Given the description of an element on the screen output the (x, y) to click on. 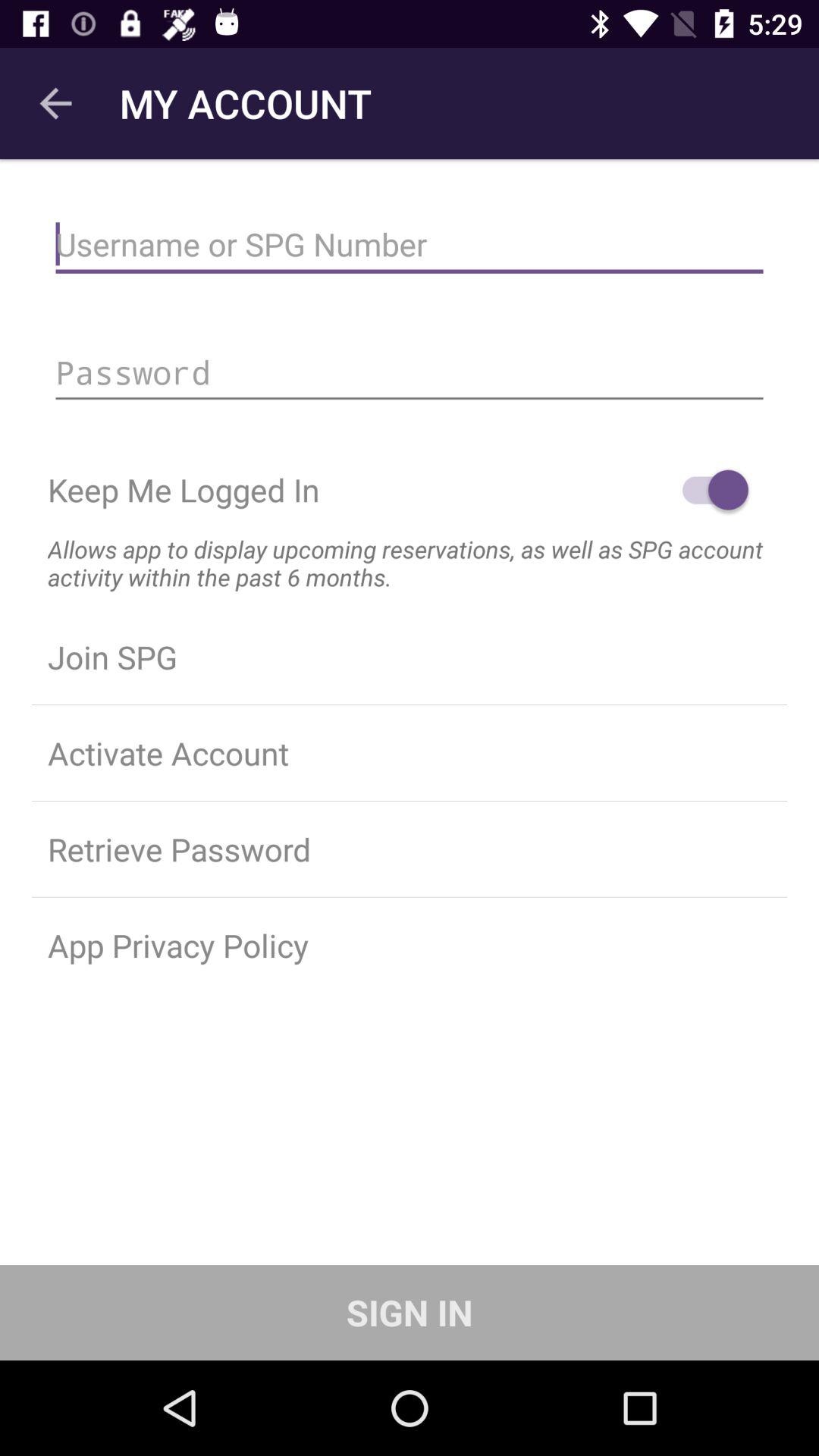
click icon below the app privacy policy icon (409, 1312)
